Given the description of an element on the screen output the (x, y) to click on. 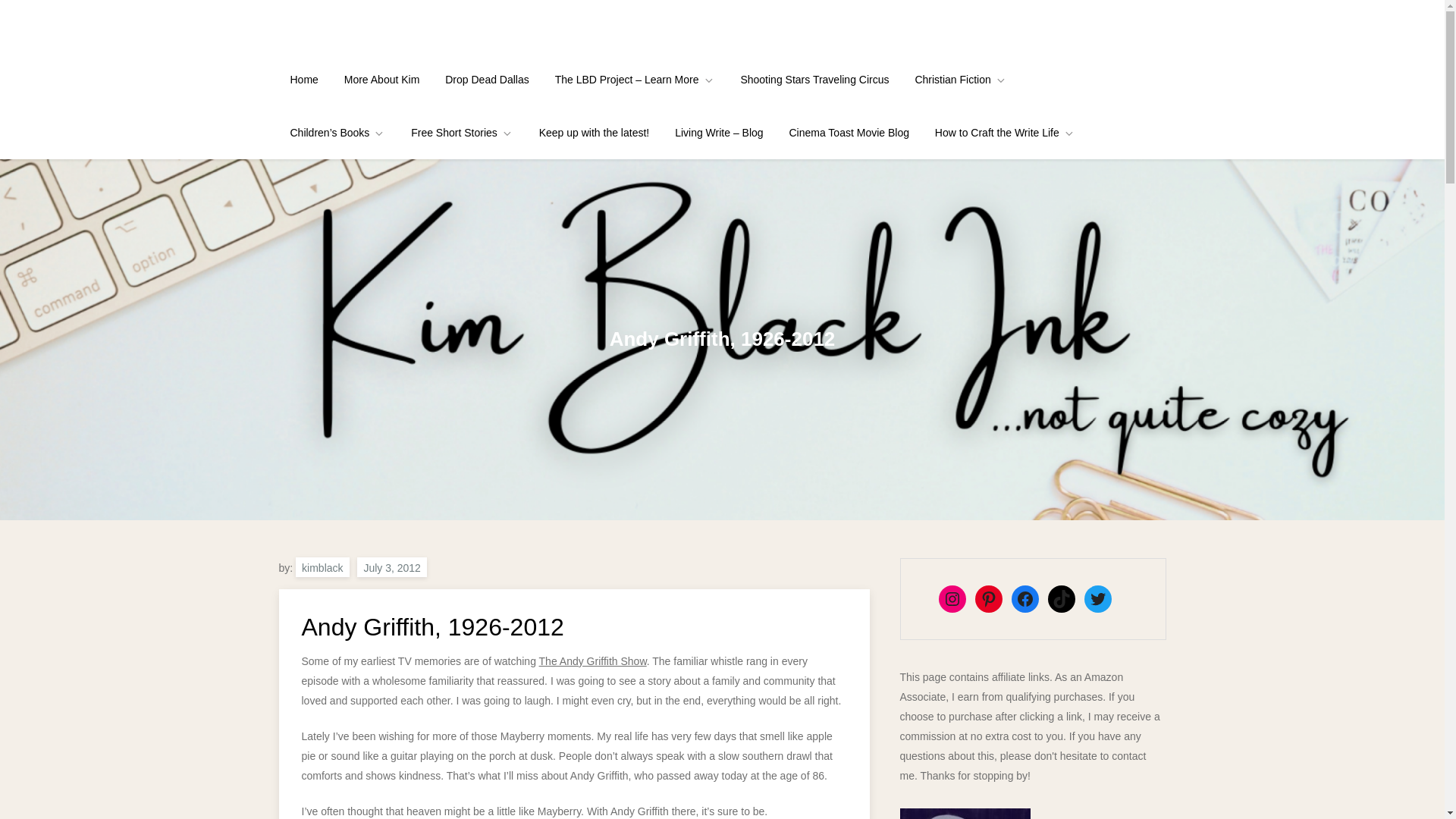
Keep up with the latest! (594, 132)
Kim Black Ink (346, 36)
How to Craft the Write Life (1004, 132)
Christian Fiction (959, 79)
Free Short Stories (461, 132)
Home (304, 79)
Shooting Stars Traveling Circus (814, 79)
Drop Dead Dallas (486, 79)
More About Kim (381, 79)
Cinema Toast Movie Blog (848, 132)
